Given the description of an element on the screen output the (x, y) to click on. 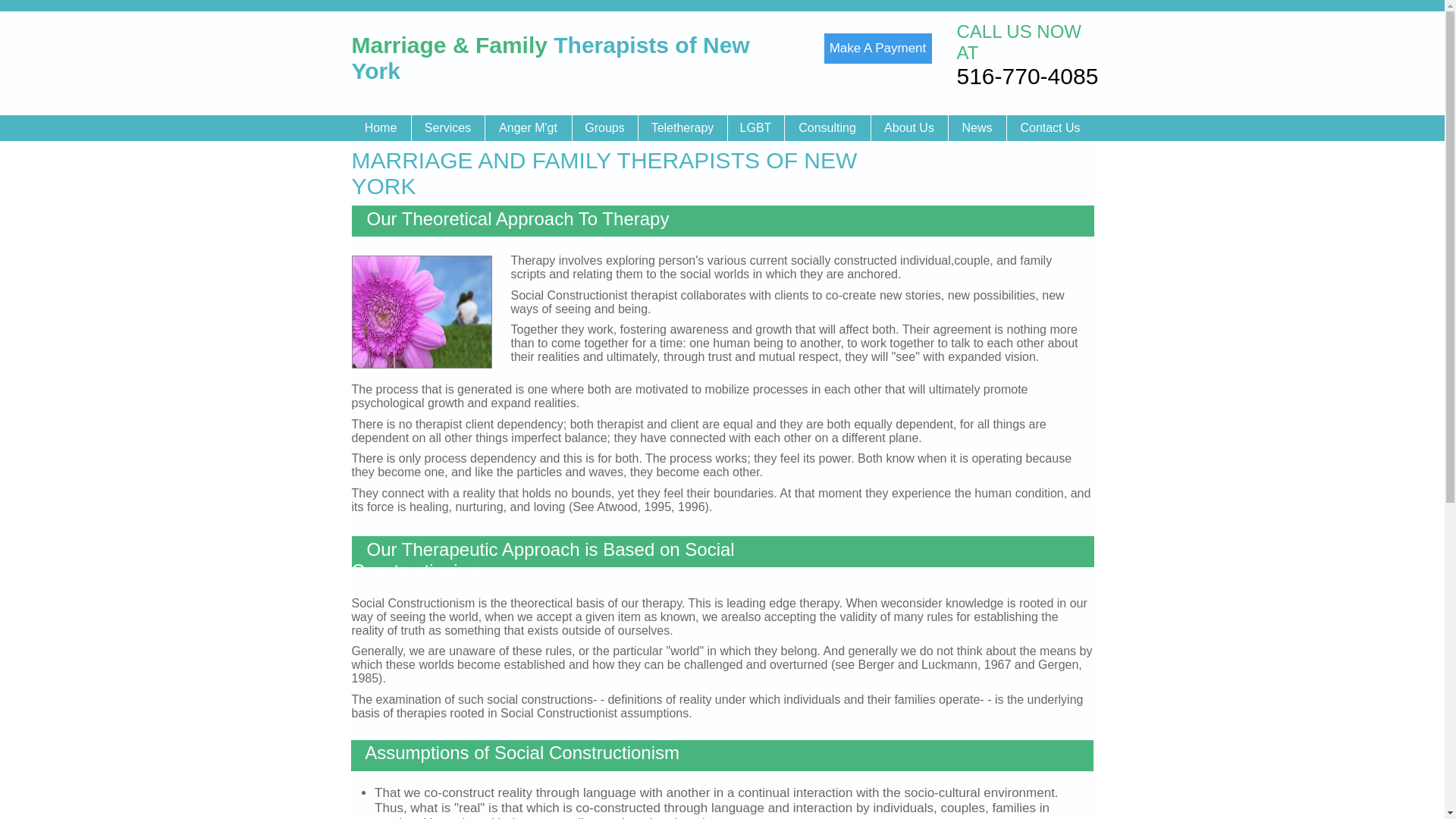
Teletherapy (681, 127)
Consulting (827, 127)
Make A Payment (877, 48)
Groups (604, 127)
Contact Us (1049, 127)
Services (447, 127)
About Us (908, 127)
LGBT (754, 127)
News (976, 127)
Home (380, 127)
Anger M'gt (526, 127)
